Given the description of an element on the screen output the (x, y) to click on. 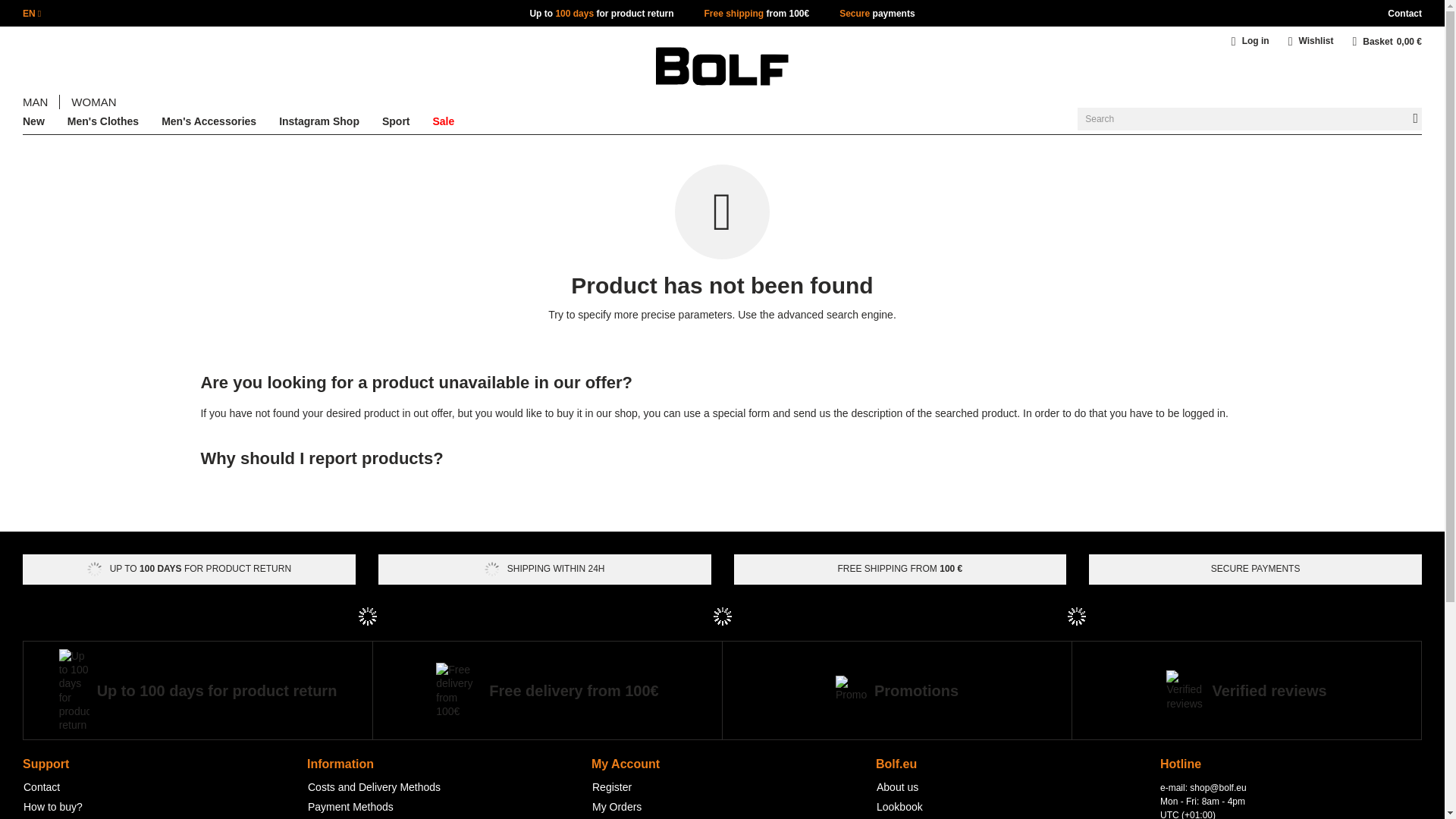
Log in (1256, 44)
Click here to go to the basket (1387, 41)
Log in (1256, 44)
Contact (1404, 13)
Wishlist (1313, 44)
EN (31, 13)
New (34, 123)
Man (35, 101)
Men's Clothes (102, 123)
New (34, 123)
Secure payments (877, 13)
Wishlist (1313, 44)
Men's Clothes (102, 123)
MAN (35, 101)
Up to 100 days for product return (600, 13)
